Given the description of an element on the screen output the (x, y) to click on. 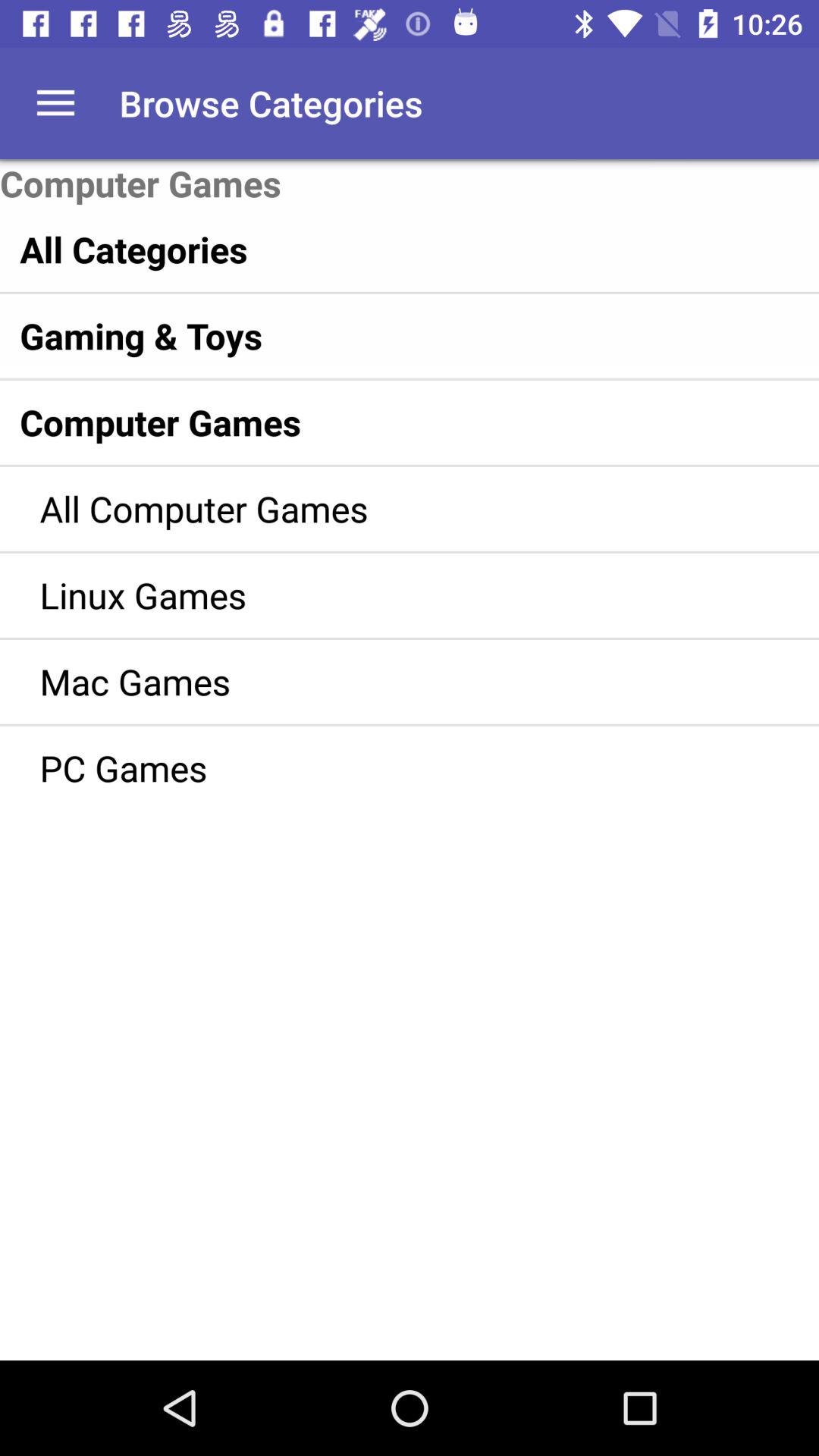
open the icon below the computer games icon (377, 249)
